Given the description of an element on the screen output the (x, y) to click on. 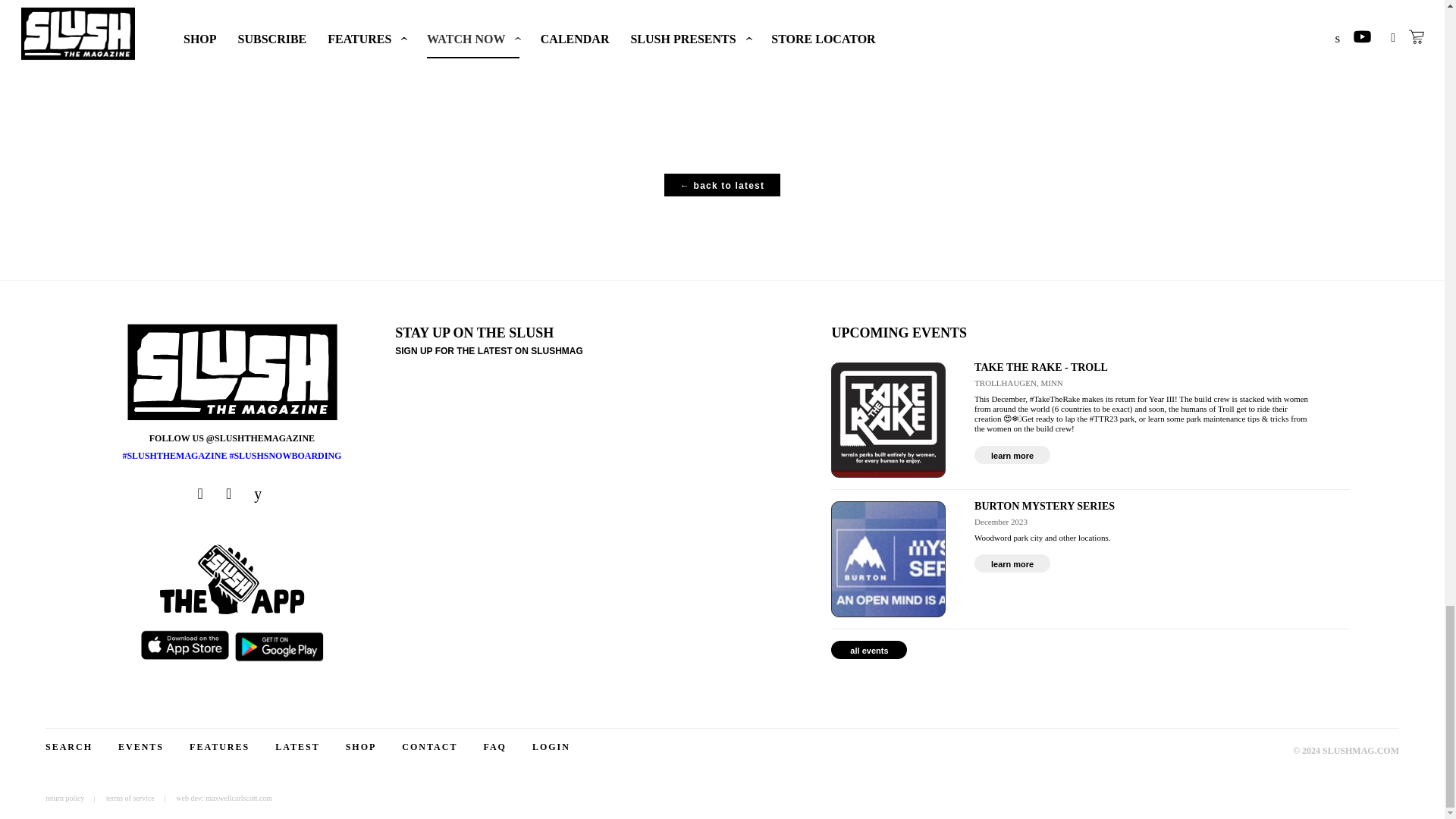
Events links (1011, 454)
Events links (1011, 563)
Pin on Pinterest (569, 43)
Tweet on Twitter (518, 43)
Share on Facebook (465, 43)
